Given the description of an element on the screen output the (x, y) to click on. 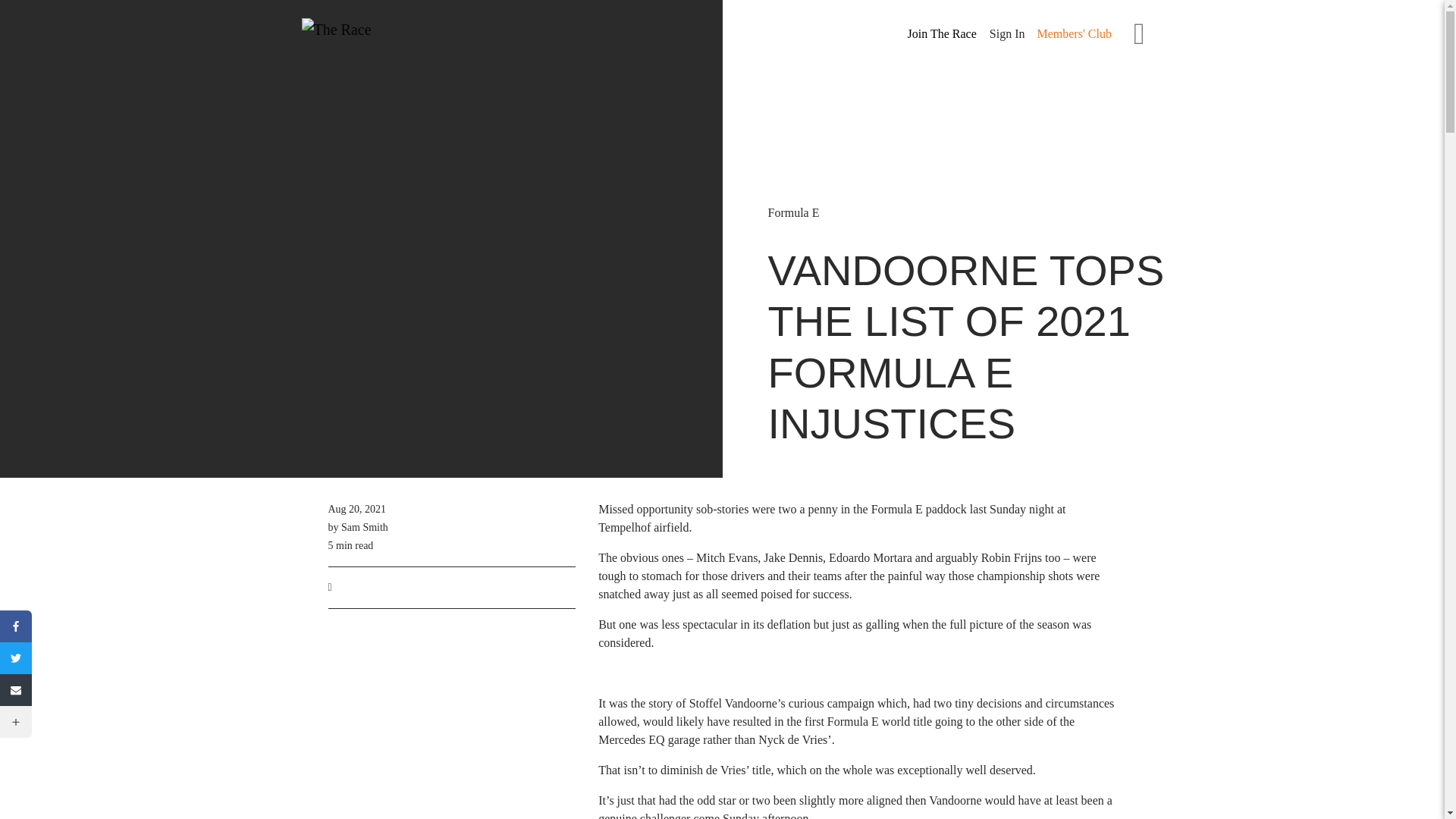
Sign In (1007, 33)
Members' Club (1073, 33)
Join The Race (941, 34)
